Given the description of an element on the screen output the (x, y) to click on. 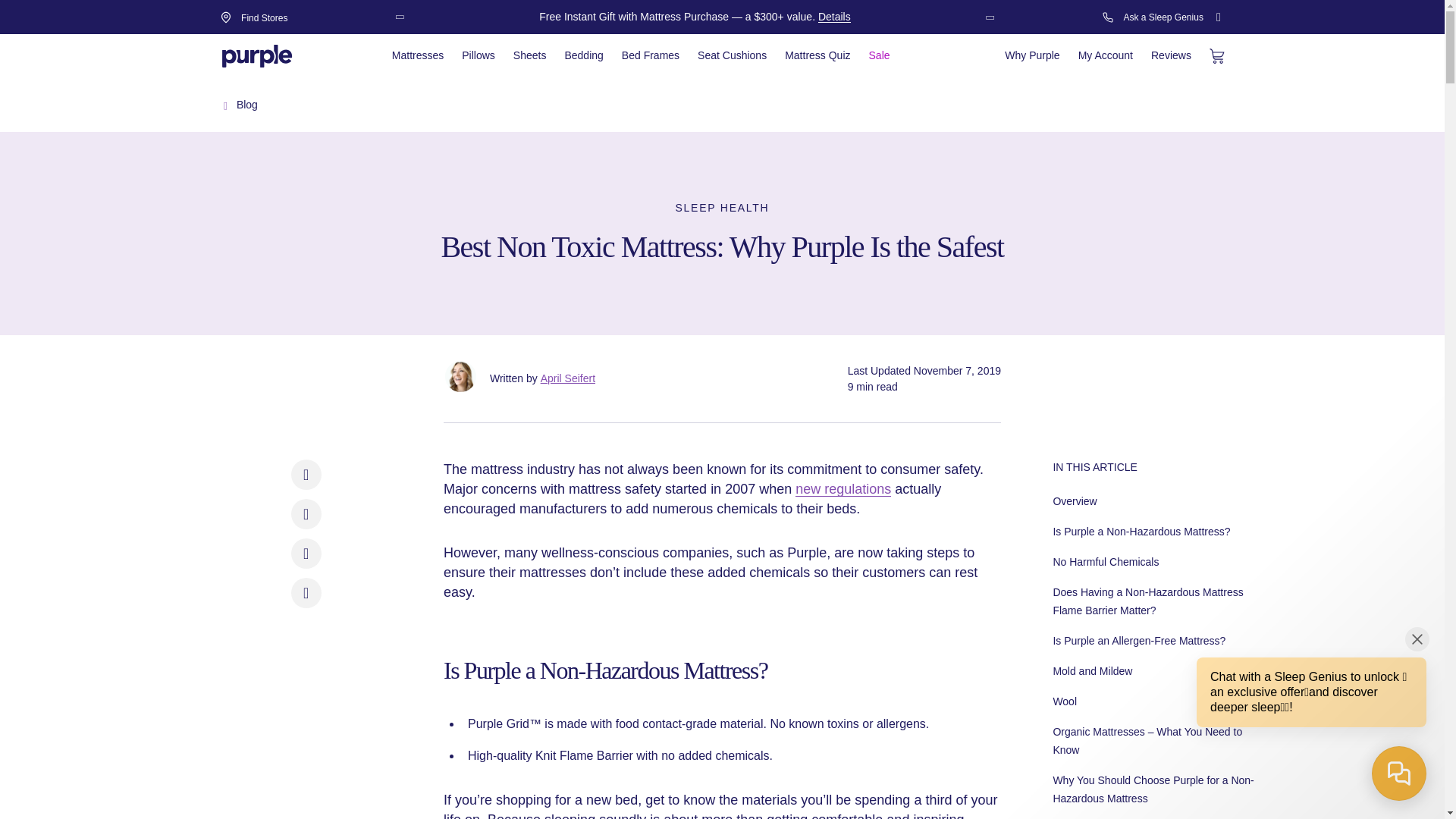
Pillows (478, 57)
Mattresses (417, 57)
Find Stores (263, 17)
Details (834, 16)
